Given the description of an element on the screen output the (x, y) to click on. 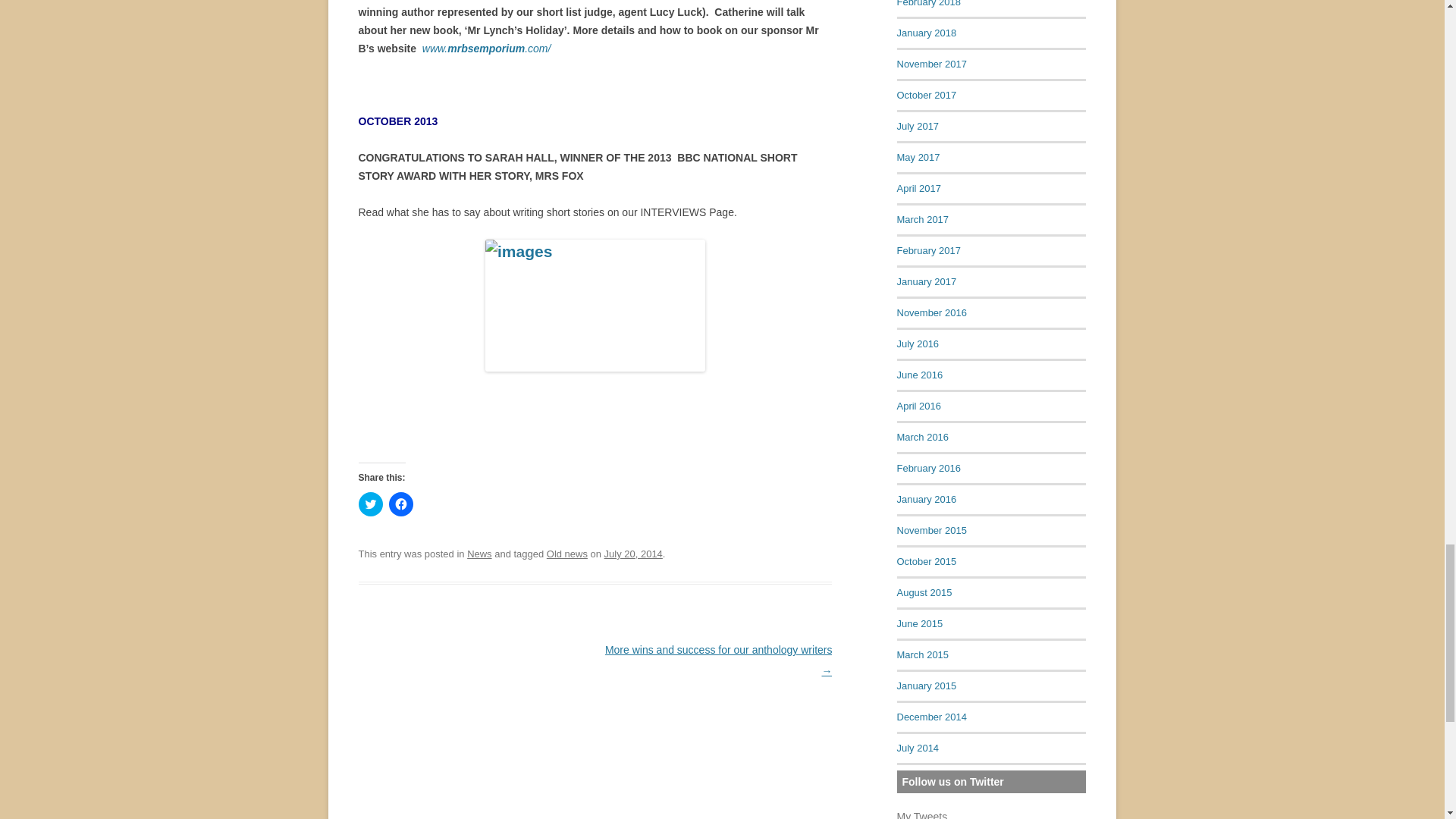
mr b's emporium (486, 48)
Click to share on Twitter (369, 504)
News (479, 553)
Old news (567, 553)
Click to share on Facebook (400, 504)
July 20, 2014 (633, 553)
11:48 am (633, 553)
